Given the description of an element on the screen output the (x, y) to click on. 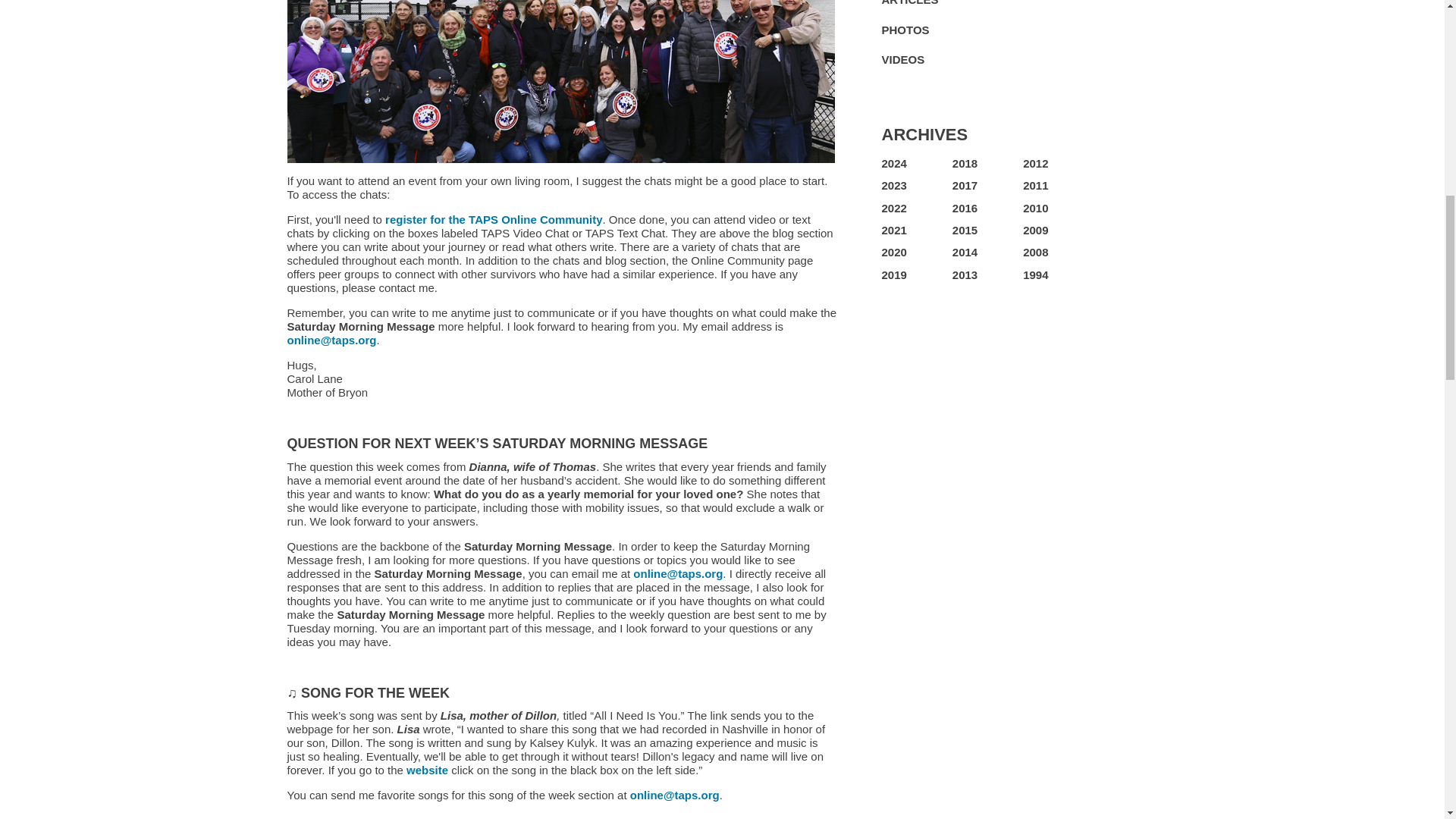
Survivors Gather under the London Bridge (560, 81)
